Given the description of an element on the screen output the (x, y) to click on. 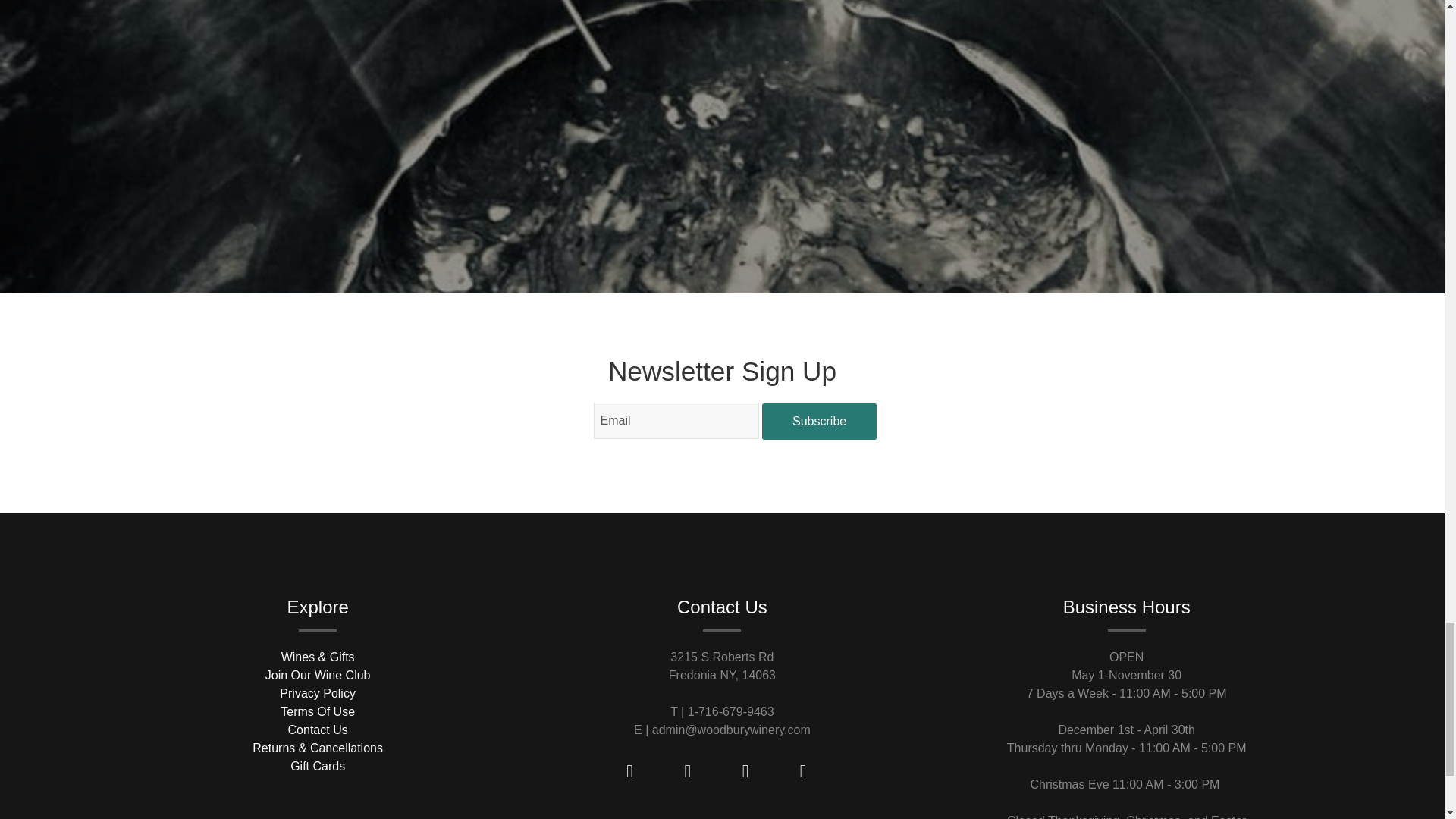
Email (676, 420)
